Given the description of an element on the screen output the (x, y) to click on. 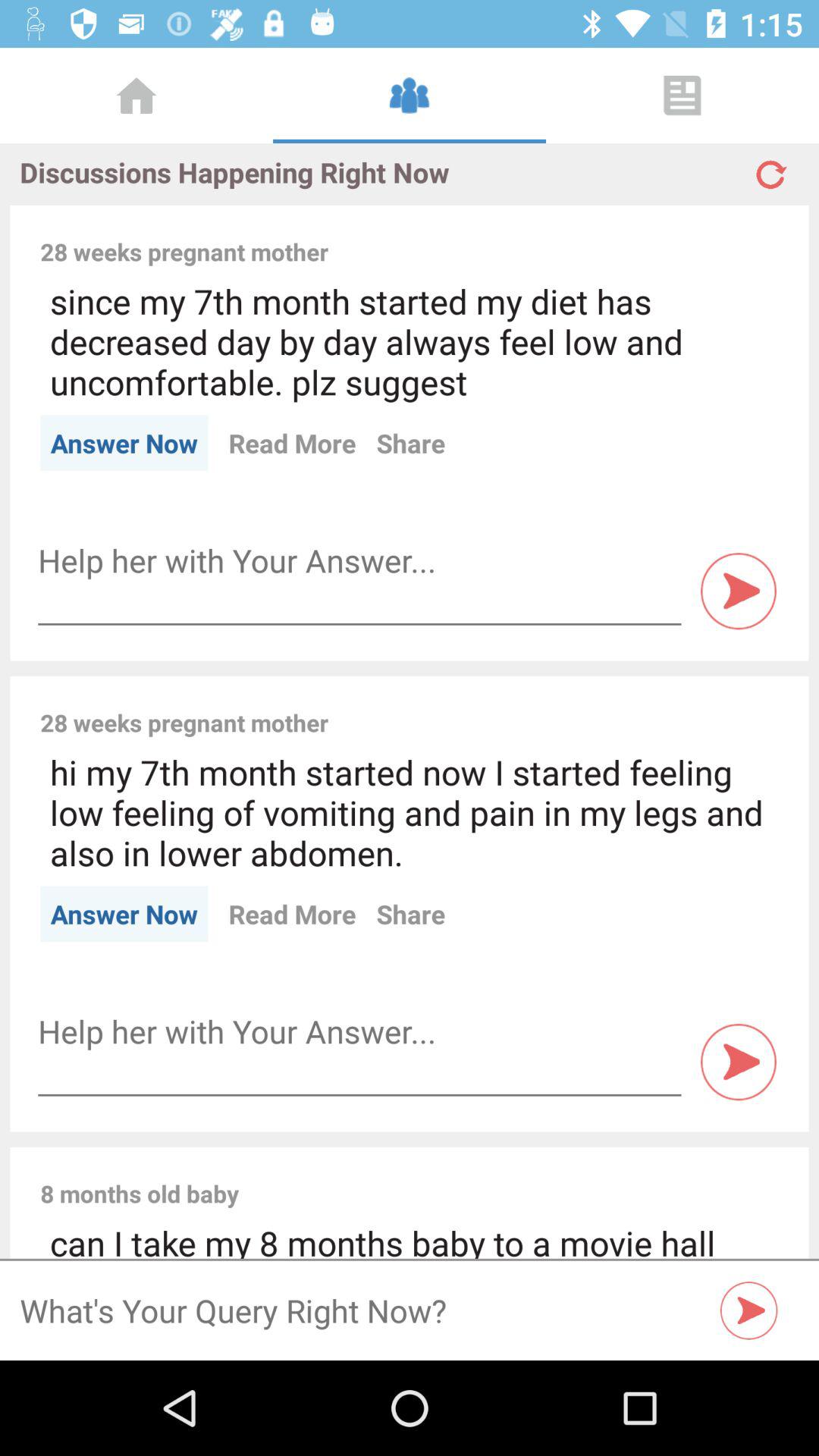
submit comment (738, 590)
